Given the description of an element on the screen output the (x, y) to click on. 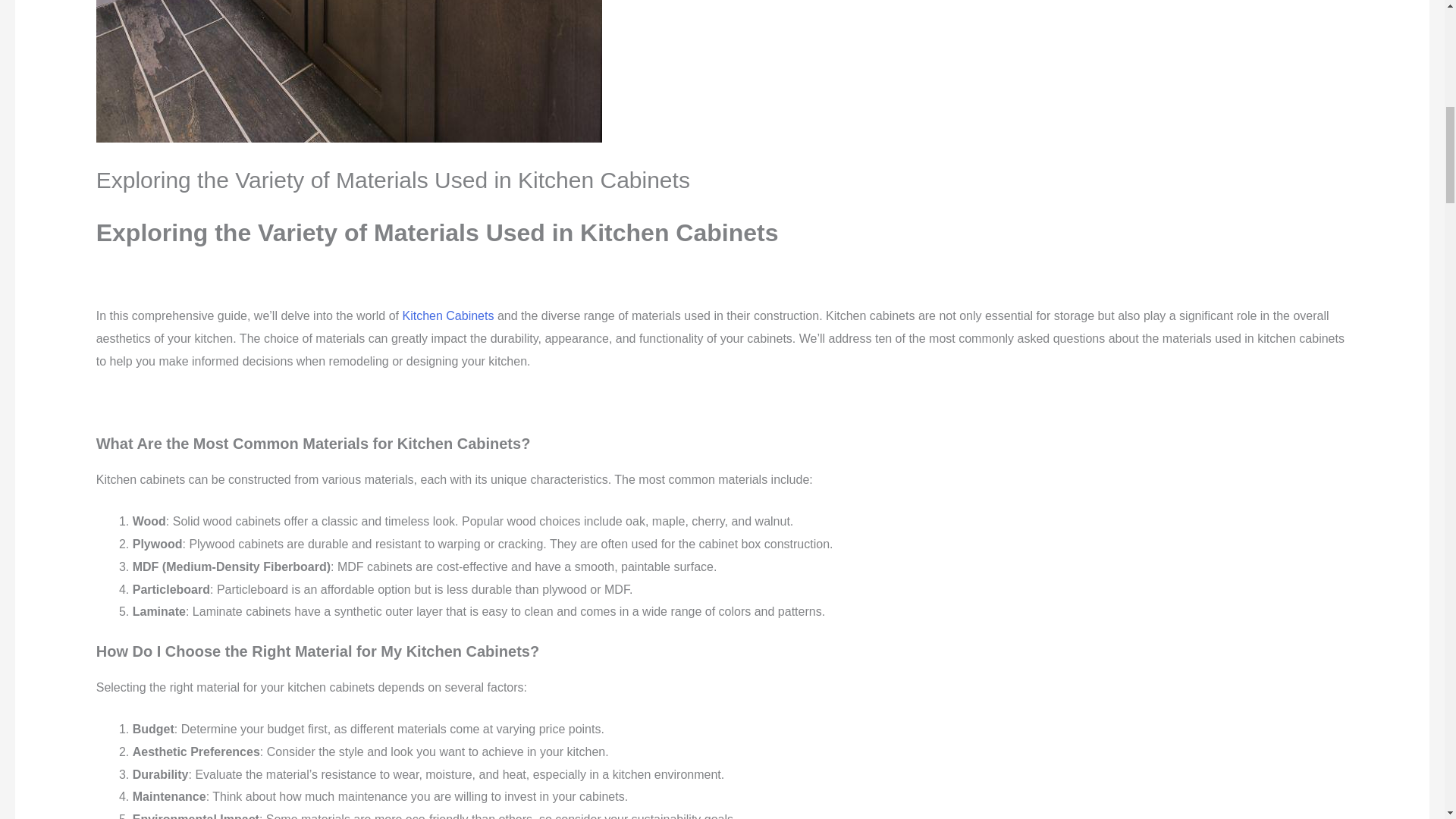
Kitchen Cabinets (447, 315)
